Given the description of an element on the screen output the (x, y) to click on. 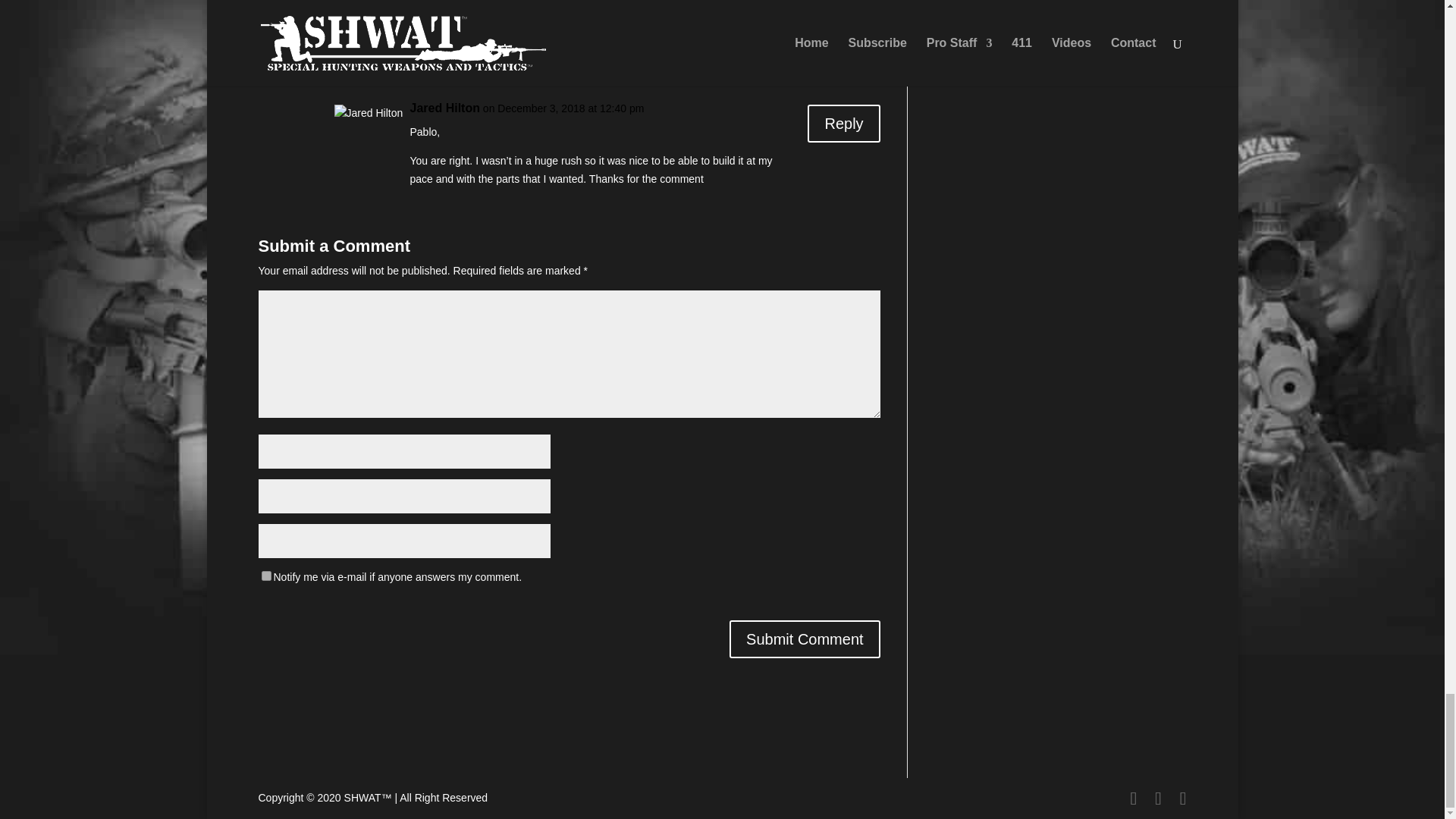
Submit Comment (804, 638)
on (265, 575)
